Given the description of an element on the screen output the (x, y) to click on. 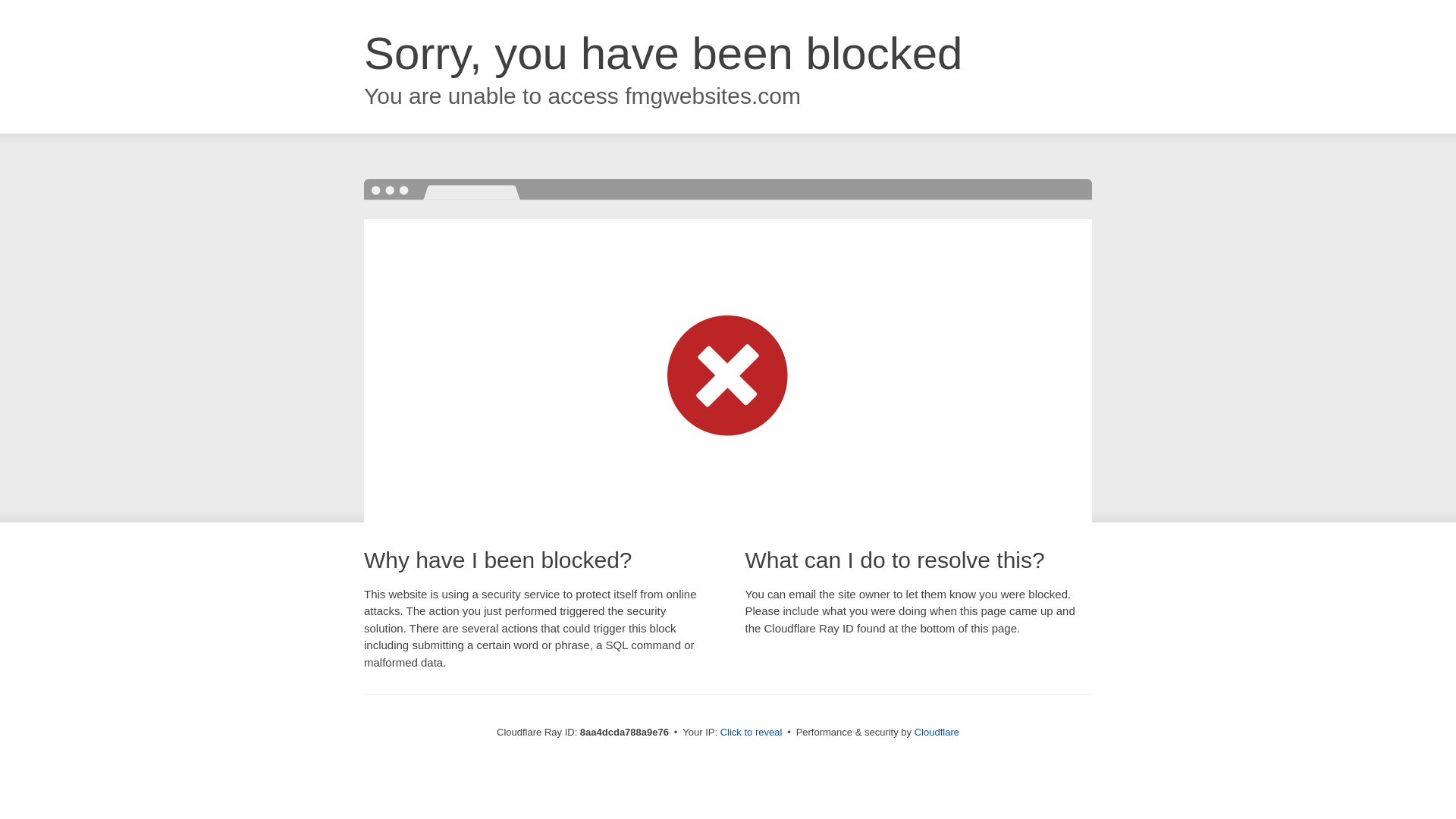
Cloudflare (936, 731)
Click to reveal (751, 732)
